Given the description of an element on the screen output the (x, y) to click on. 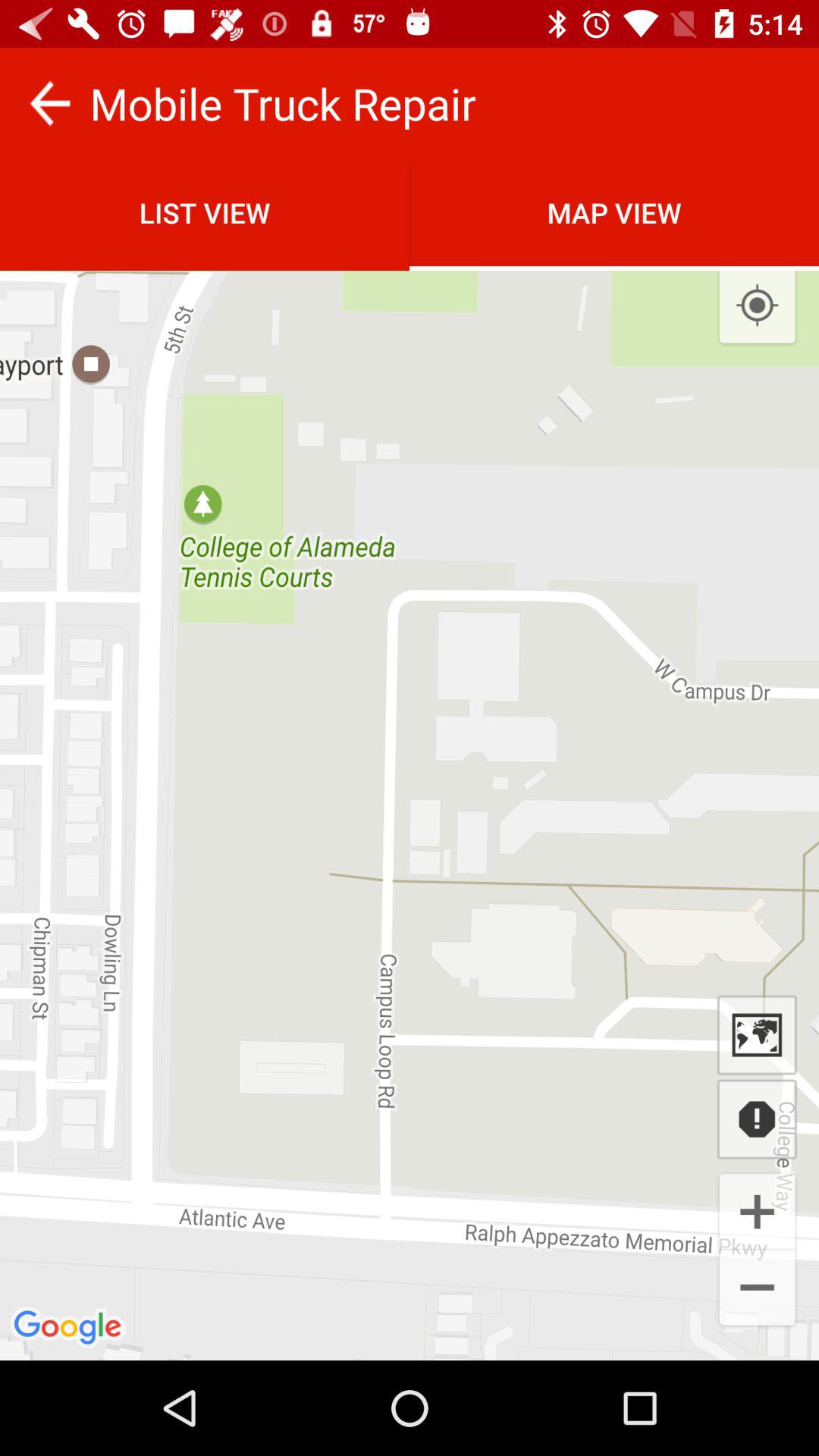
select item next to list view (614, 212)
